Given the description of an element on the screen output the (x, y) to click on. 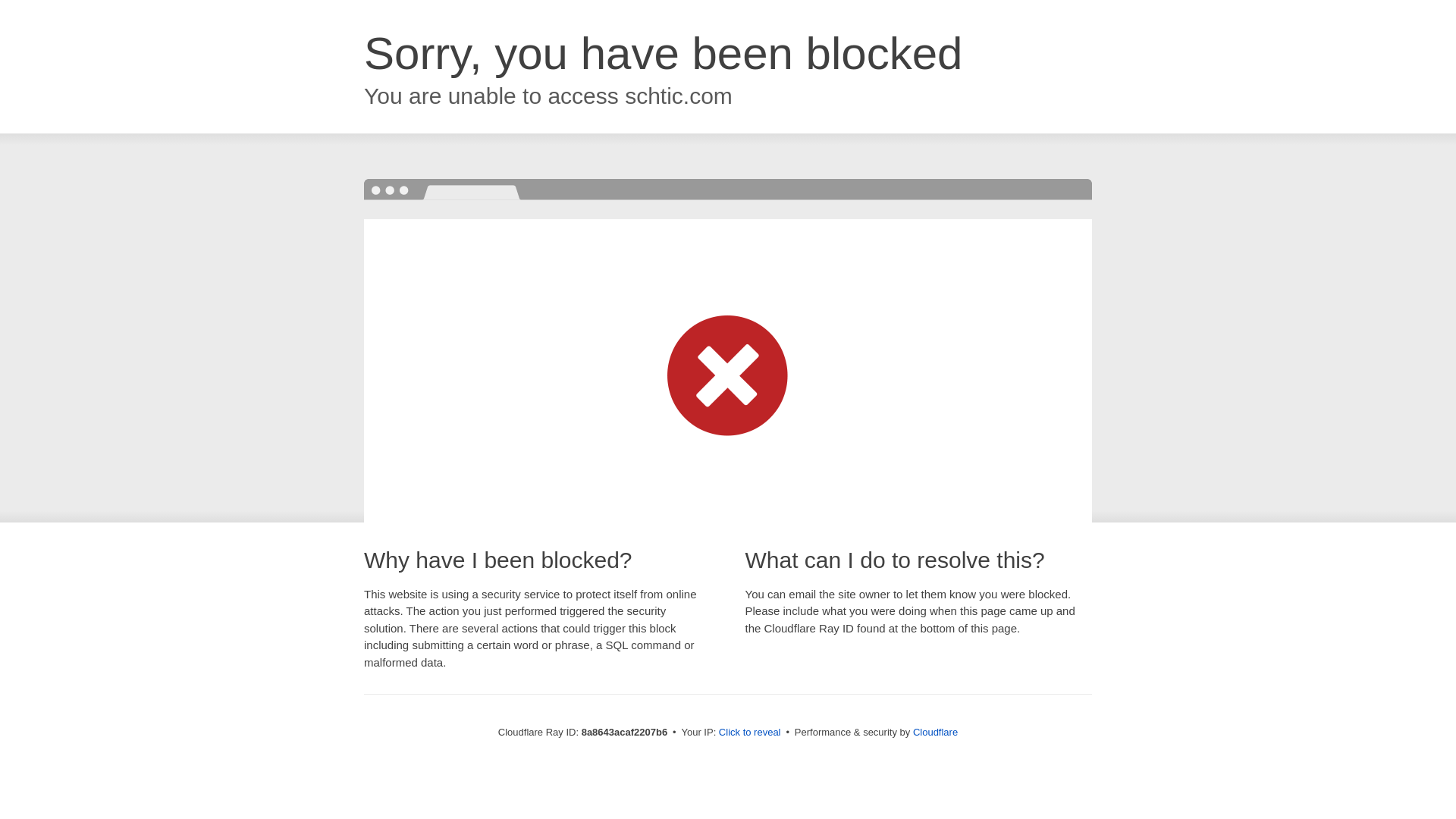
Click to reveal (749, 732)
Cloudflare (935, 731)
